Given the description of an element on the screen output the (x, y) to click on. 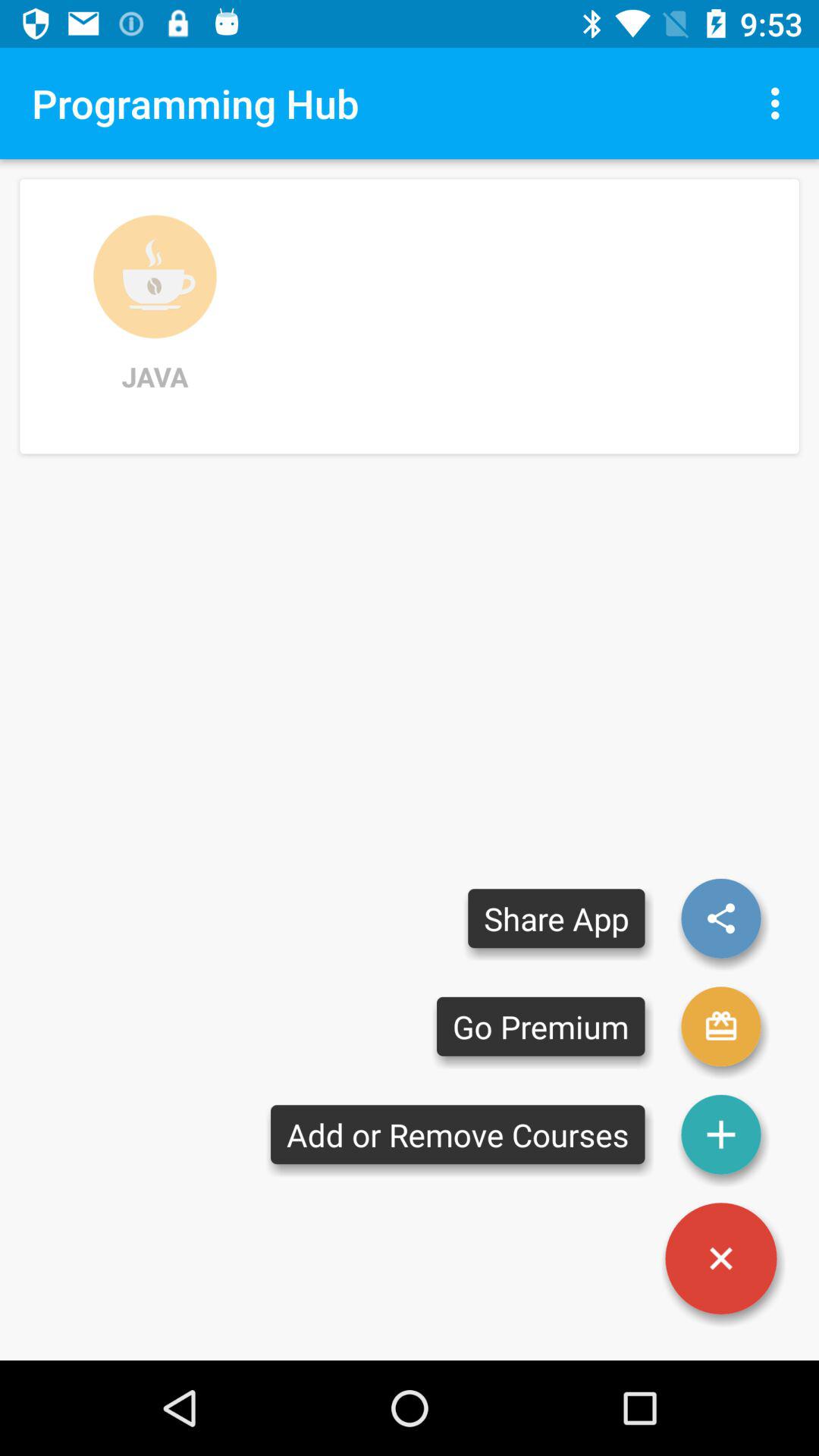
turn off the icon to the right of go premium icon (721, 1134)
